Given the description of an element on the screen output the (x, y) to click on. 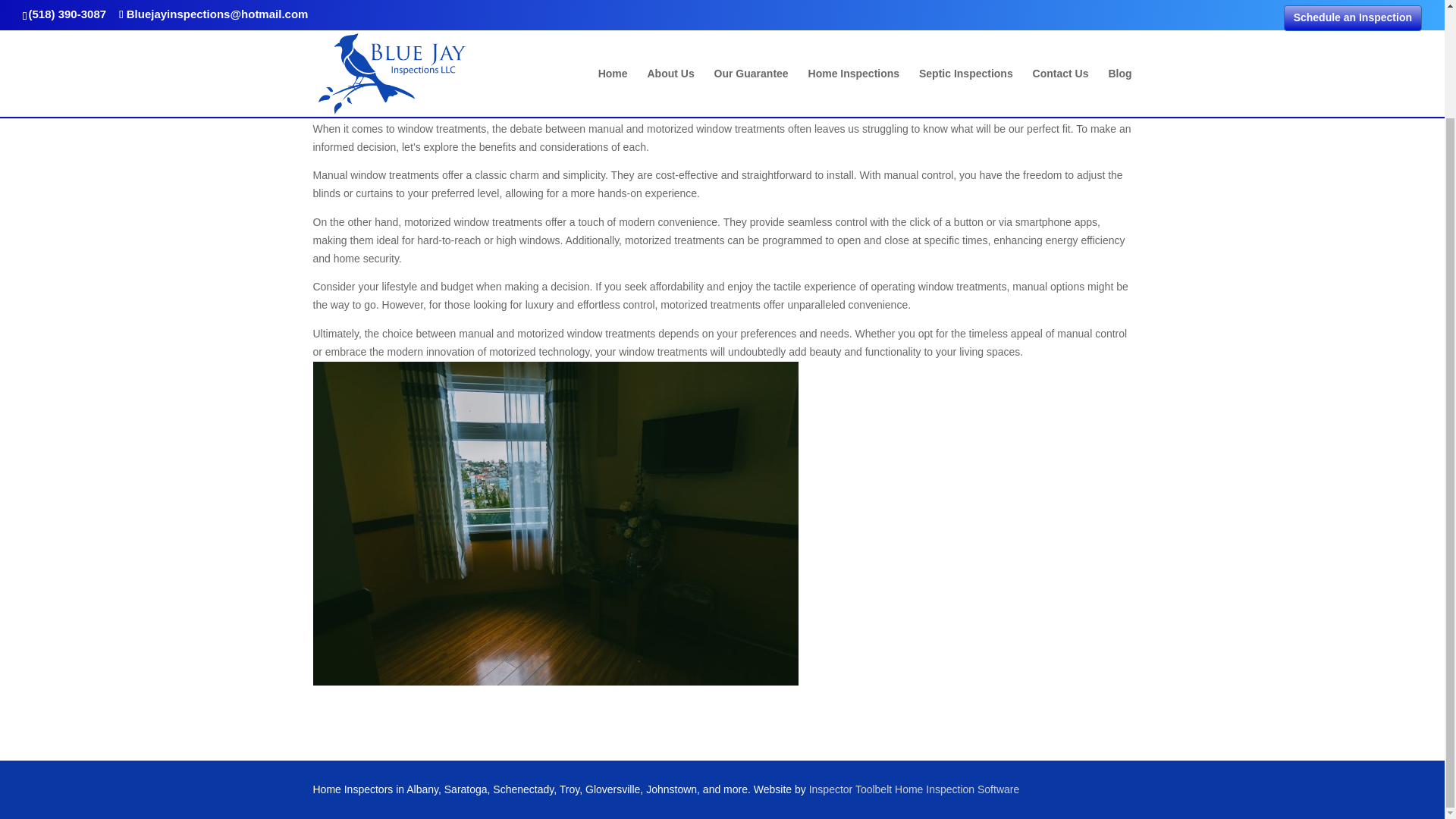
Inspector Toolbelt Home Inspection Software (914, 788)
Posts by Your Albany, Schenectady, Saratoga Home Inspectors (453, 71)
NYS Home Inspection Software (914, 788)
Uncategorized (689, 71)
Your Albany, Schenectady, Saratoga Home Inspectors (453, 71)
